Given the description of an element on the screen output the (x, y) to click on. 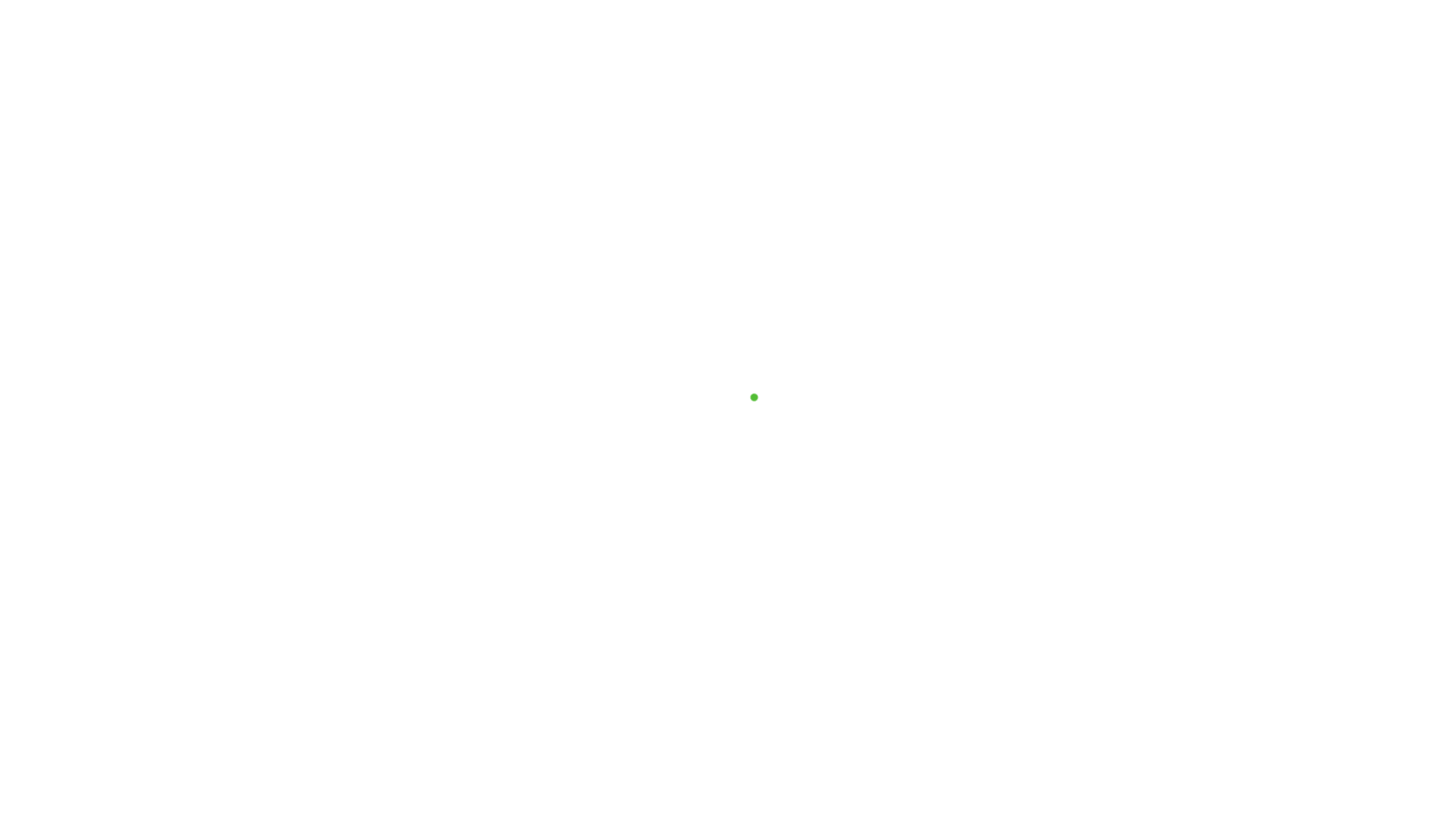
+375 (29) 129-14-29 Element type: text (526, 44)
+375 (17) 282-28-16 Element type: text (807, 44)
qmedia.by Element type: hover (984, 646)
Rambler's Top100 Element type: hover (294, 486)
+375 (33) 344-14-29 Element type: text (666, 44)
Instagram Element type: hover (973, 49)
